Given the description of an element on the screen output the (x, y) to click on. 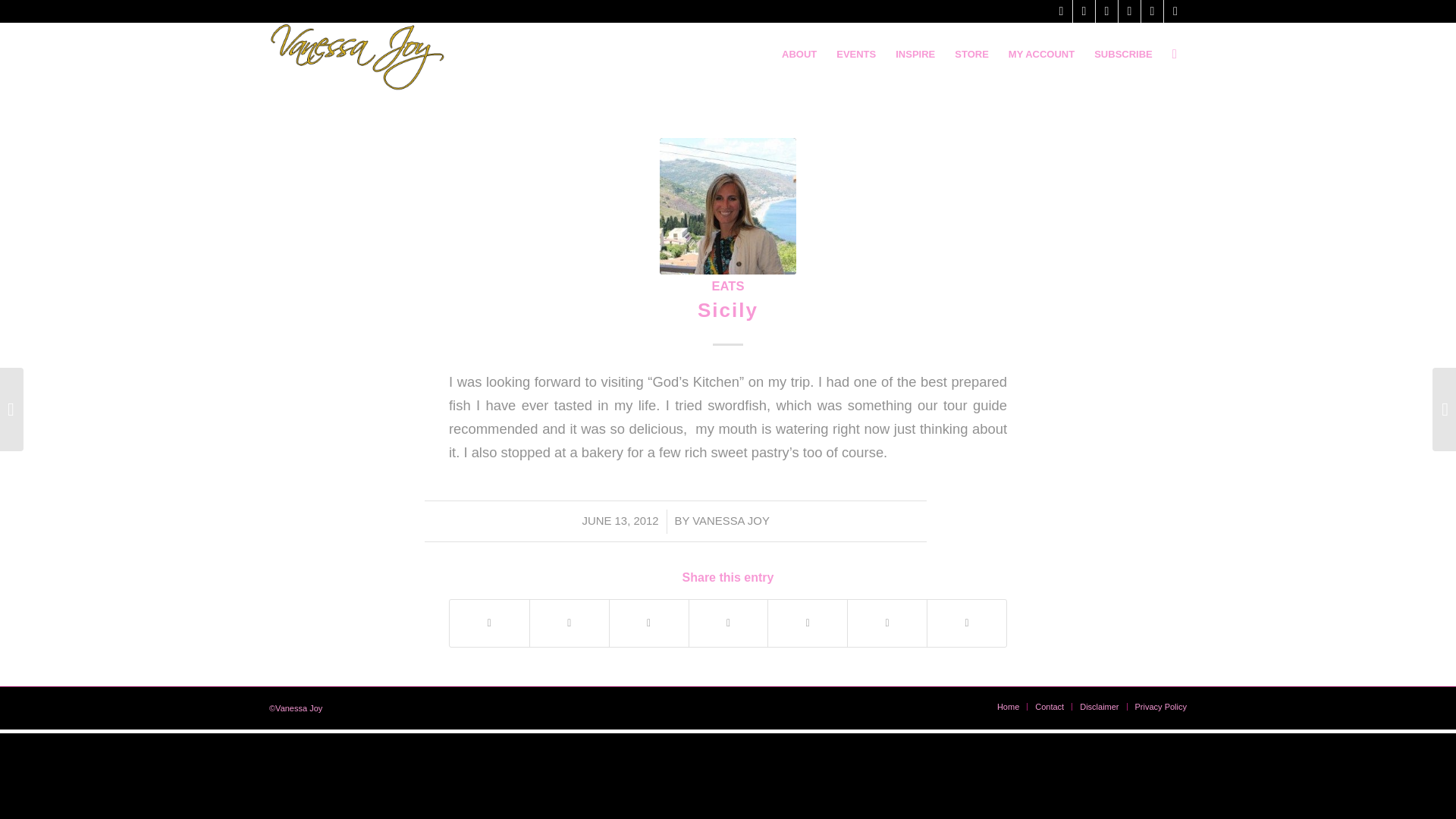
INSPIRE (914, 54)
EVENTS (856, 54)
Sicily (727, 206)
Linkedin (1174, 11)
ABOUT (799, 54)
Pinterest (1152, 11)
VANESSA JOY (731, 521)
Facebook (1060, 11)
Instagram (1107, 11)
EATS (727, 286)
